Given the description of an element on the screen output the (x, y) to click on. 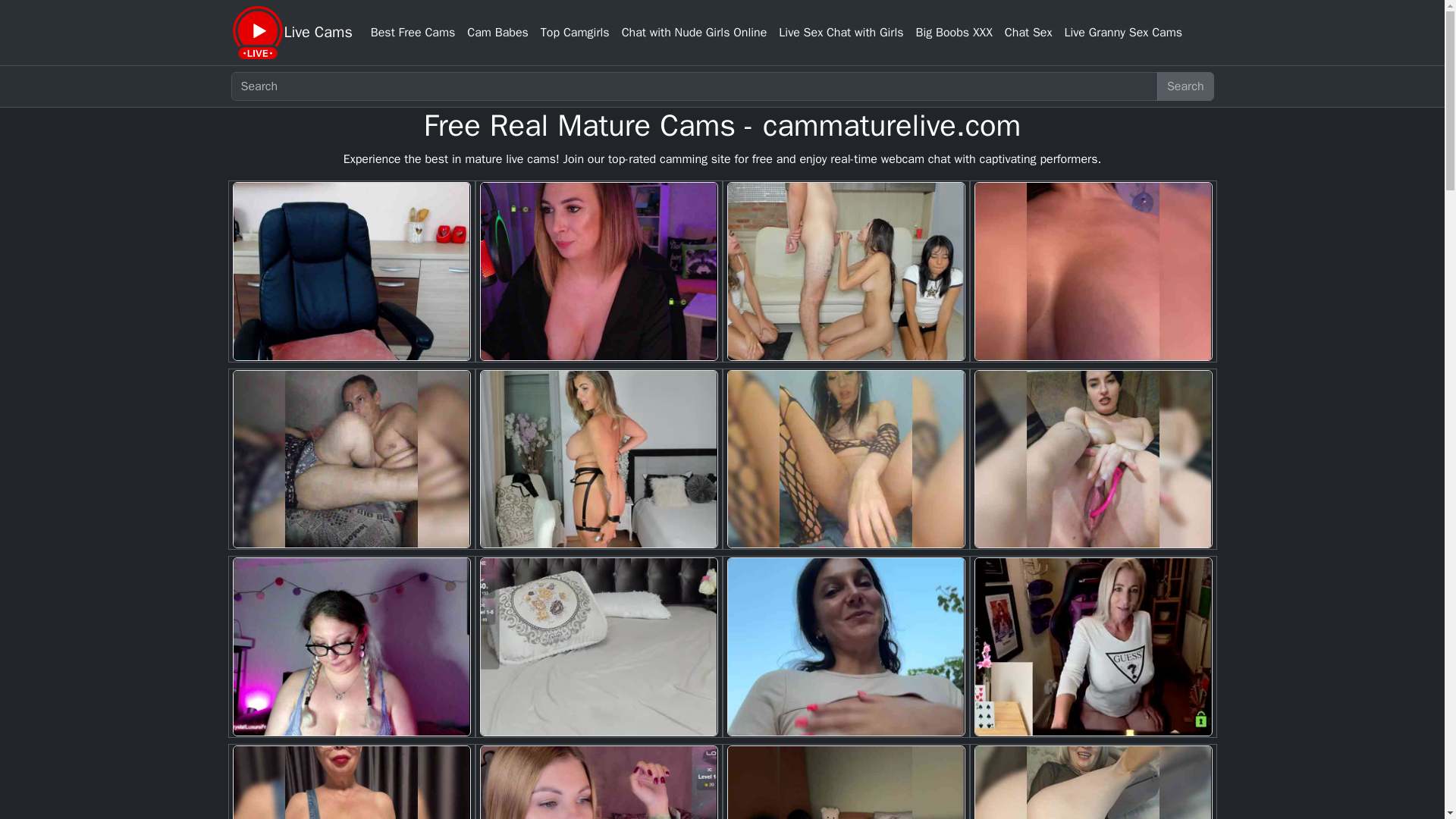
Best Free Cams (413, 32)
Search (1185, 86)
Big Boobs XXX (954, 32)
Chat with Nude Girls Online (694, 32)
Live Sex Chat with Girls (840, 32)
Live Cams (317, 32)
Live Granny Sex Cams (1123, 32)
Top Camgirls (574, 32)
Chat Sex (1028, 32)
Cam Babes (497, 32)
